Given the description of an element on the screen output the (x, y) to click on. 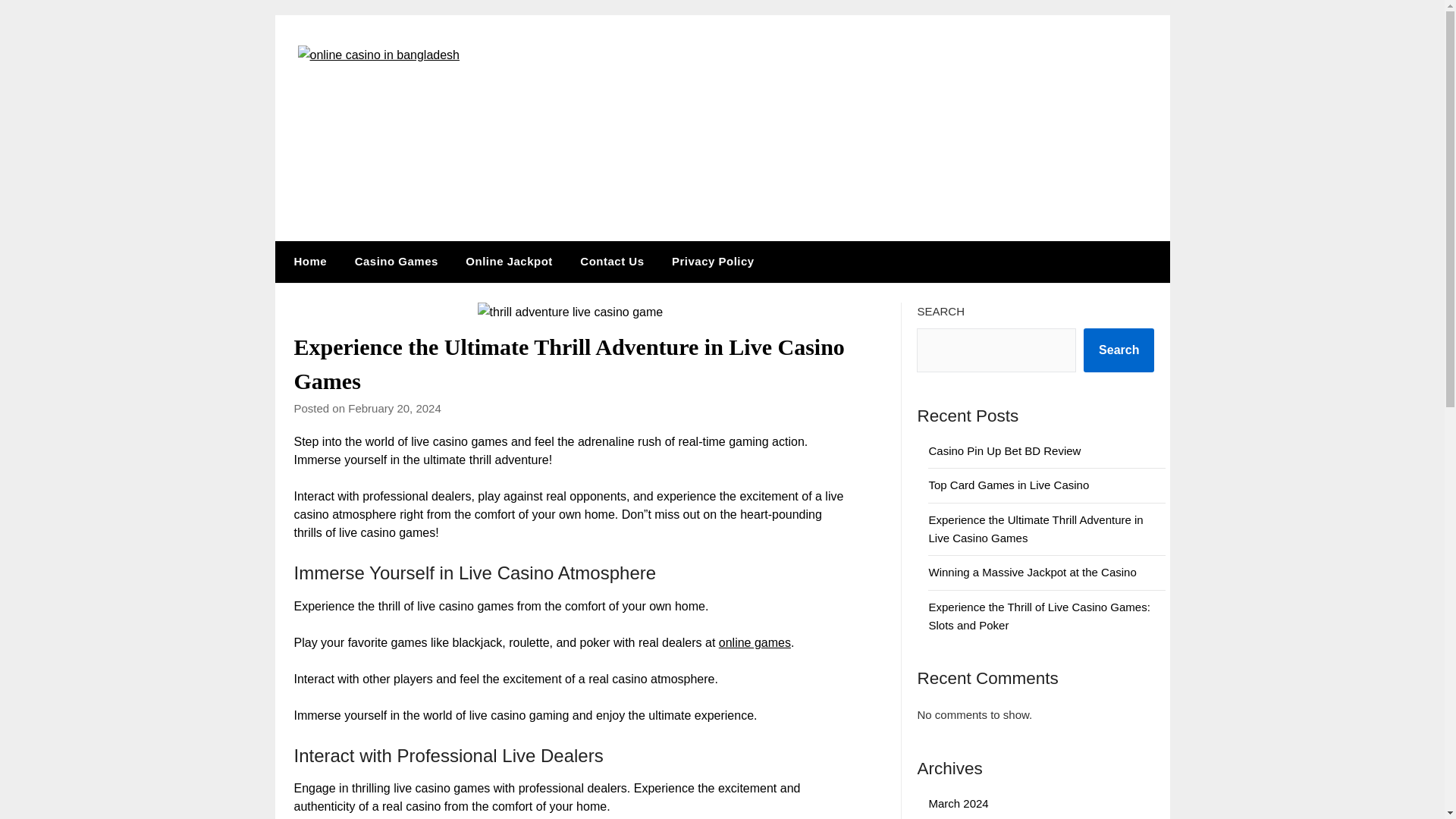
Home (307, 260)
March 2024 (958, 802)
Online Jackpot (508, 260)
Casino Games (395, 260)
Casino Pin Up Bet BD Review (1004, 450)
Privacy Policy (713, 260)
Experience the Thrill of Live Casino Games: Slots and Poker (1039, 615)
online games (754, 642)
Contact Us (611, 260)
Search (1118, 350)
Top Card Games in Live Casino (1008, 484)
Winning a Massive Jackpot at the Casino (1031, 571)
